Given the description of an element on the screen output the (x, y) to click on. 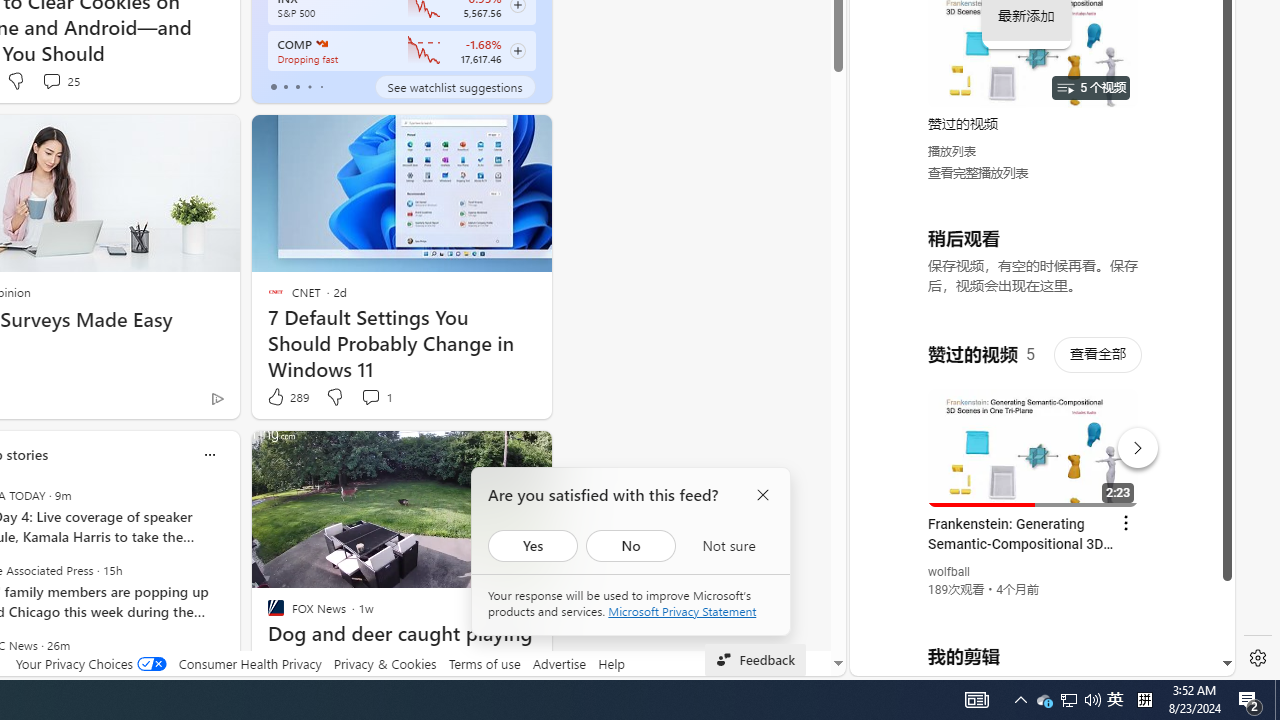
tab-4 (320, 86)
View comments 1 Comment (370, 396)
Actions for this site (1131, 443)
See more (527, 454)
US[ju] (917, 660)
Microsoft Privacy Statement (682, 611)
Yes (533, 545)
Advertise (559, 663)
wolfball (949, 572)
Click to scroll right (1196, 83)
Hide this story (491, 454)
Class: icon-img (208, 454)
NASDAQ (320, 43)
